Given the description of an element on the screen output the (x, y) to click on. 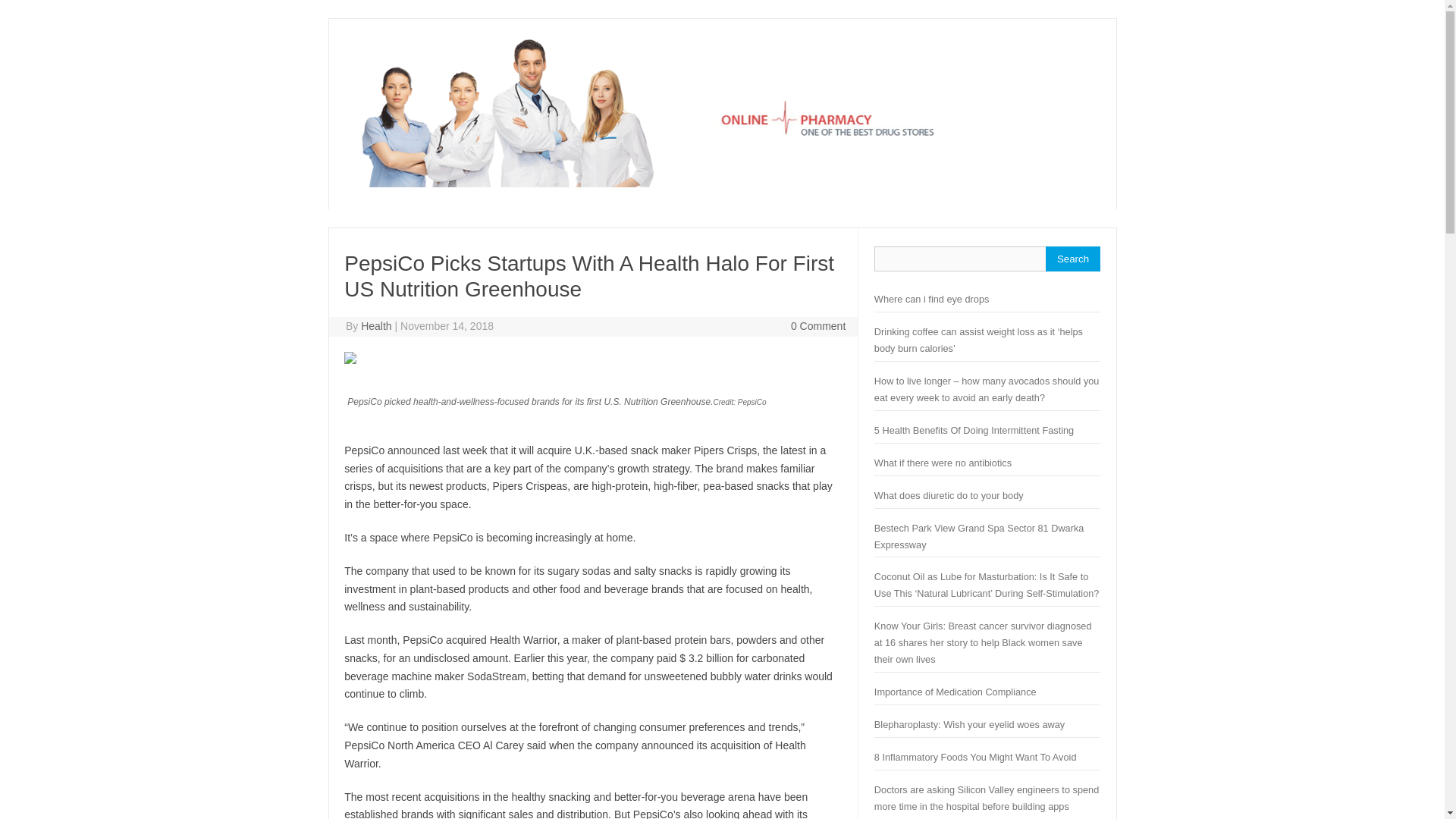
Bestech Park View Grand Spa Sector 81 Dwarka Expressway (979, 536)
Importance of Medication Compliance (955, 691)
What if there were no antibiotics (943, 462)
What does diuretic do to your body (949, 495)
Search (1072, 258)
Search (1072, 258)
Where can i find eye drops (931, 298)
8 Inflammatory Foods You Might Want To Avoid (976, 756)
Health (721, 183)
Blepharoplasty: Wish your eyelid woes away (969, 724)
5 Health Benefits Of Doing Intermittent Fasting (974, 430)
